Given the description of an element on the screen output the (x, y) to click on. 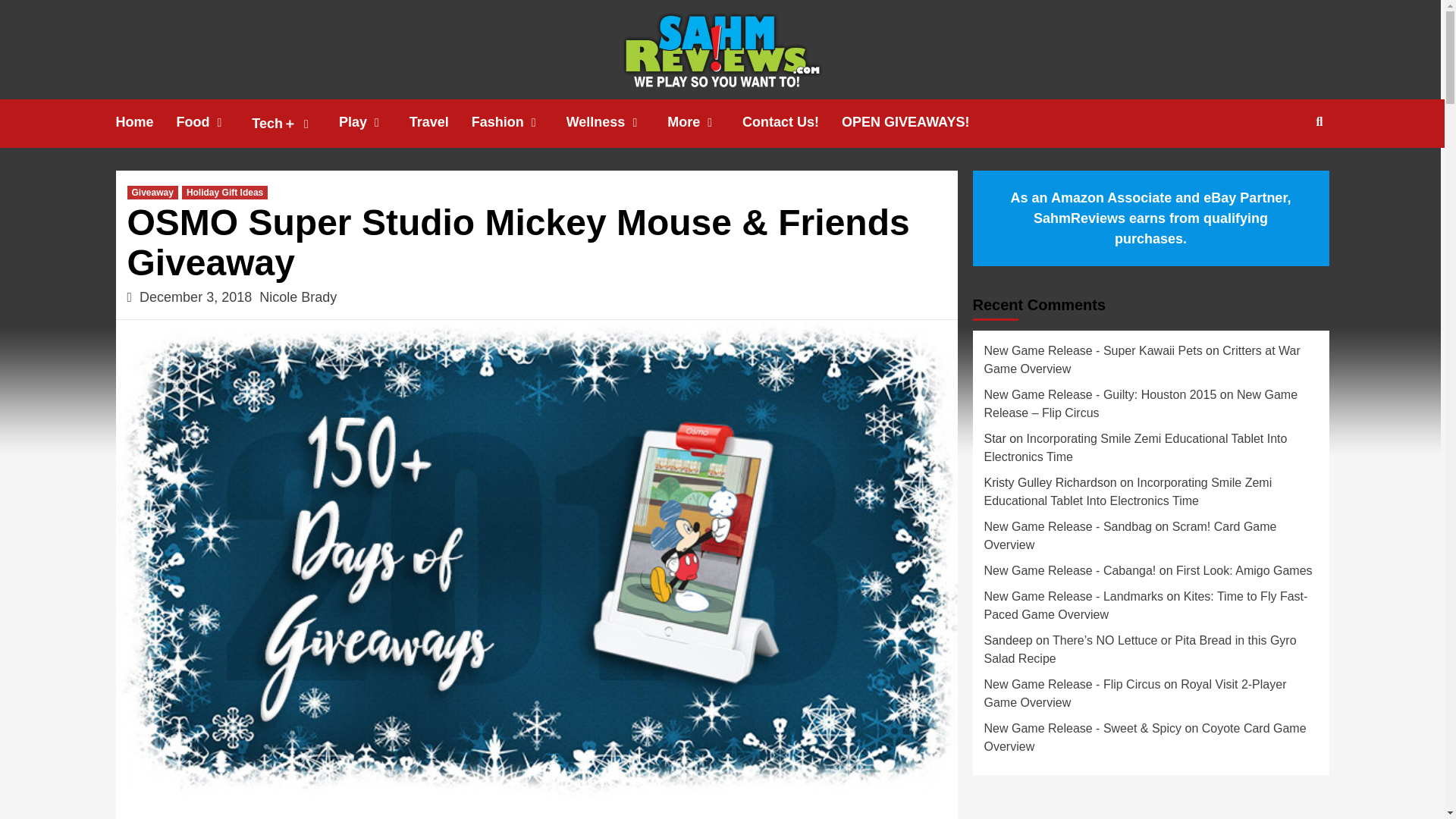
Play (374, 122)
More (704, 122)
Fashion (518, 122)
Food (213, 122)
Wellness (617, 122)
Travel (440, 122)
Home (145, 122)
